Given the description of an element on the screen output the (x, y) to click on. 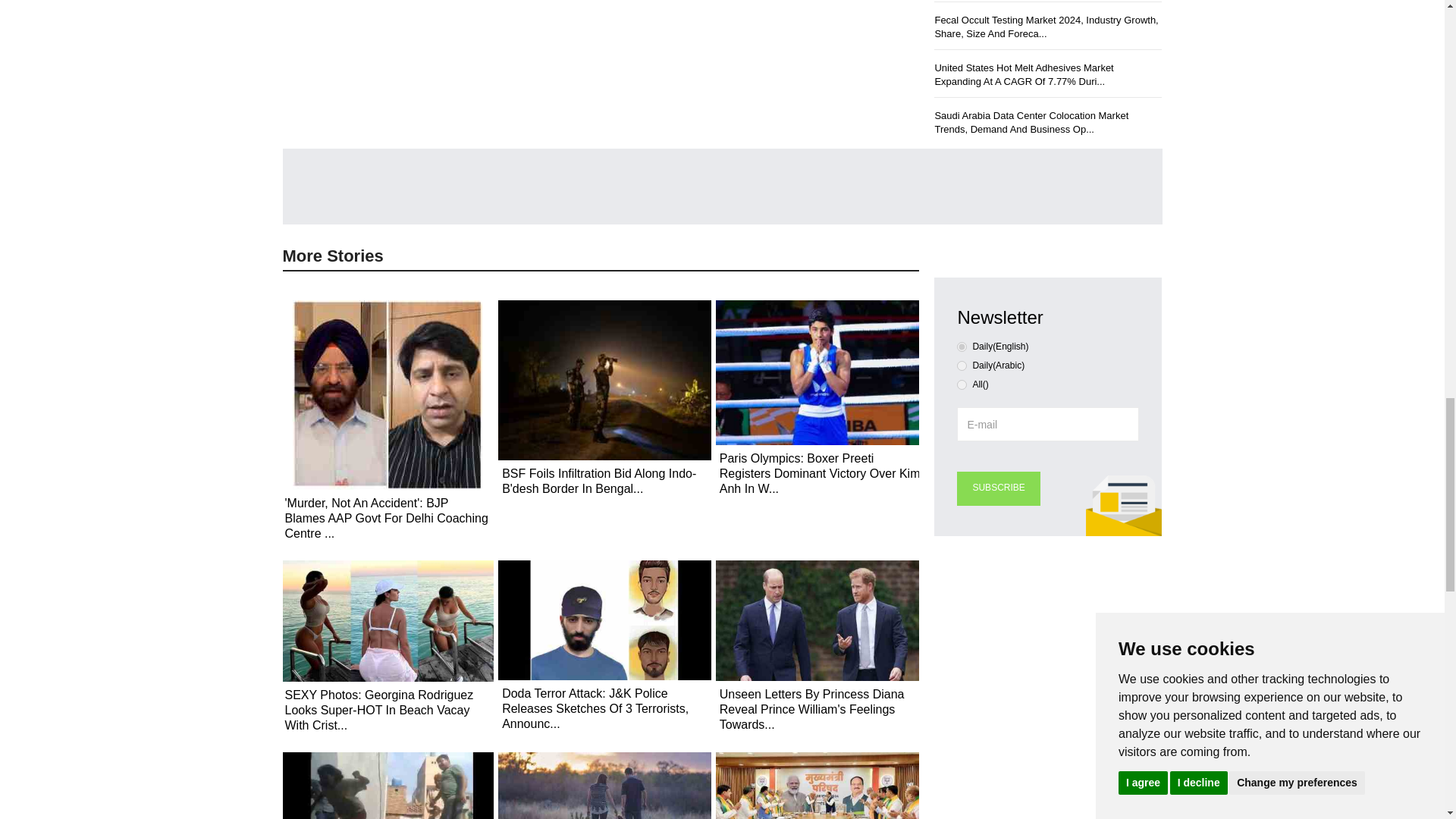
1 (961, 366)
2 (961, 384)
Subscribe (997, 488)
0 (961, 347)
